Given the description of an element on the screen output the (x, y) to click on. 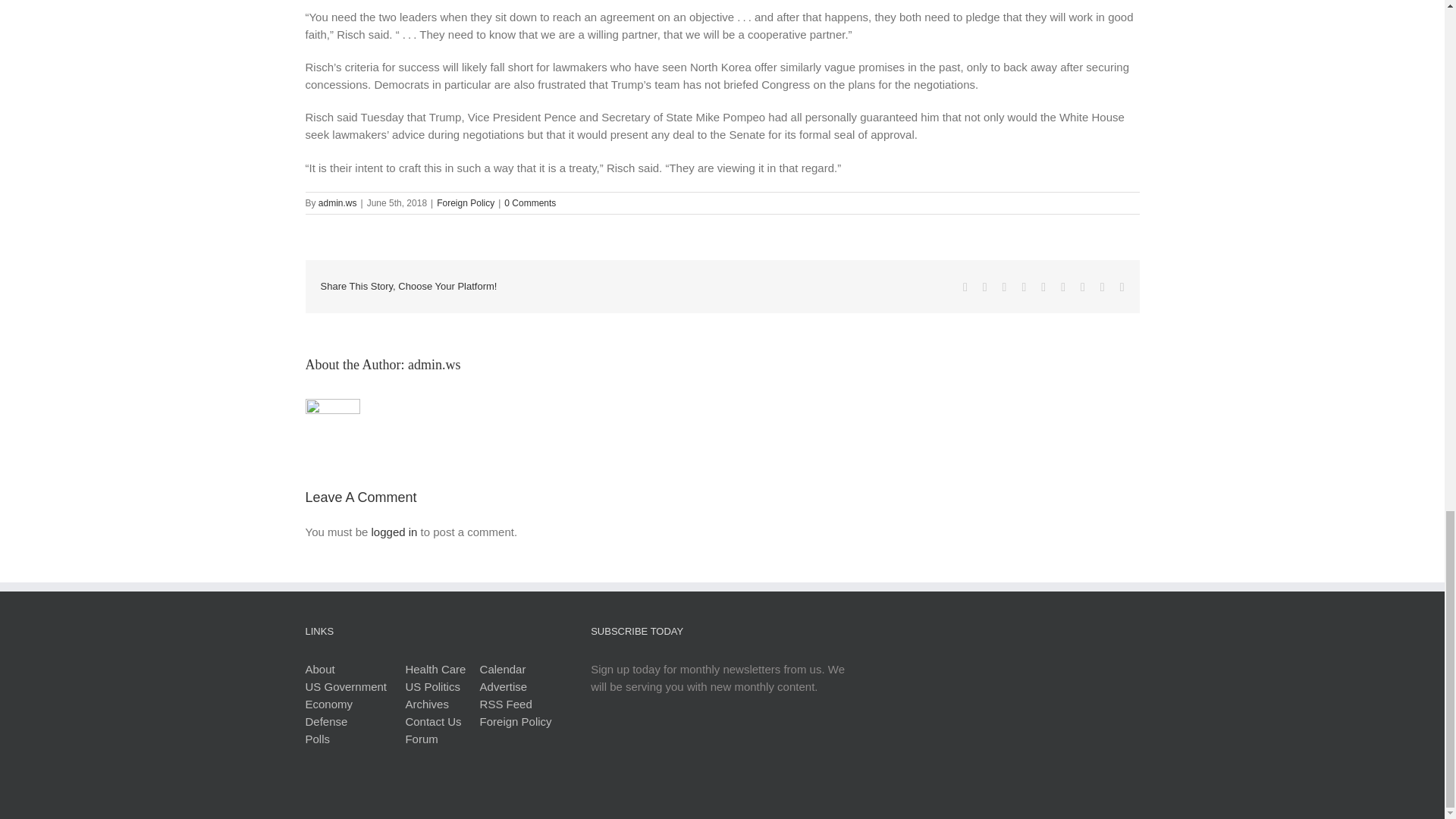
logged in (394, 531)
About (319, 668)
Posts by admin.ws (337, 203)
Foreign Policy (465, 203)
admin.ws (337, 203)
admin.ws (434, 364)
Posts by admin.ws (434, 364)
0 Comments (529, 203)
